Given the description of an element on the screen output the (x, y) to click on. 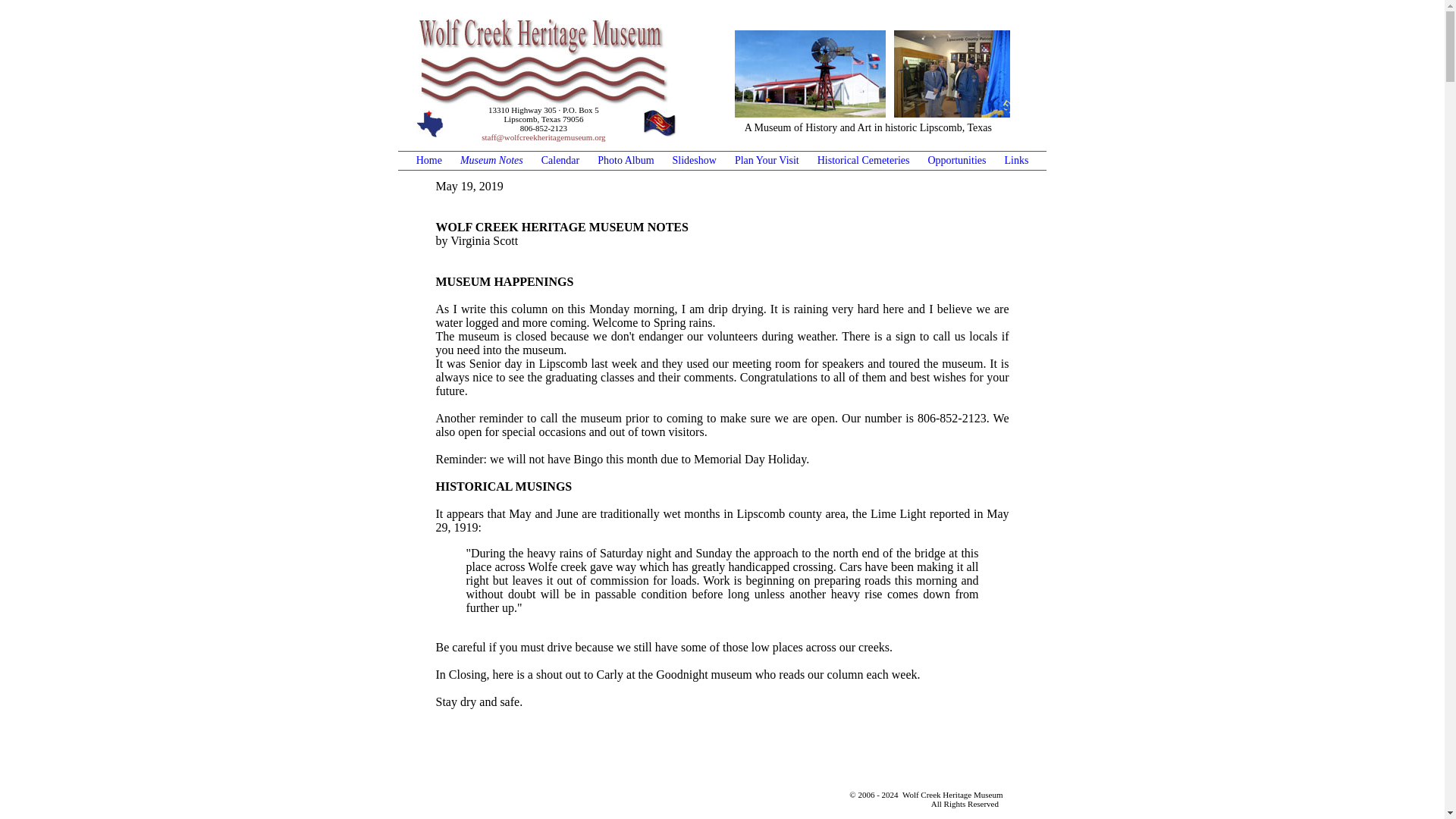
org (599, 136)
Museum Notes (491, 160)
Home (429, 160)
wolfcreekheritagemuseum. (548, 136)
